Given the description of an element on the screen output the (x, y) to click on. 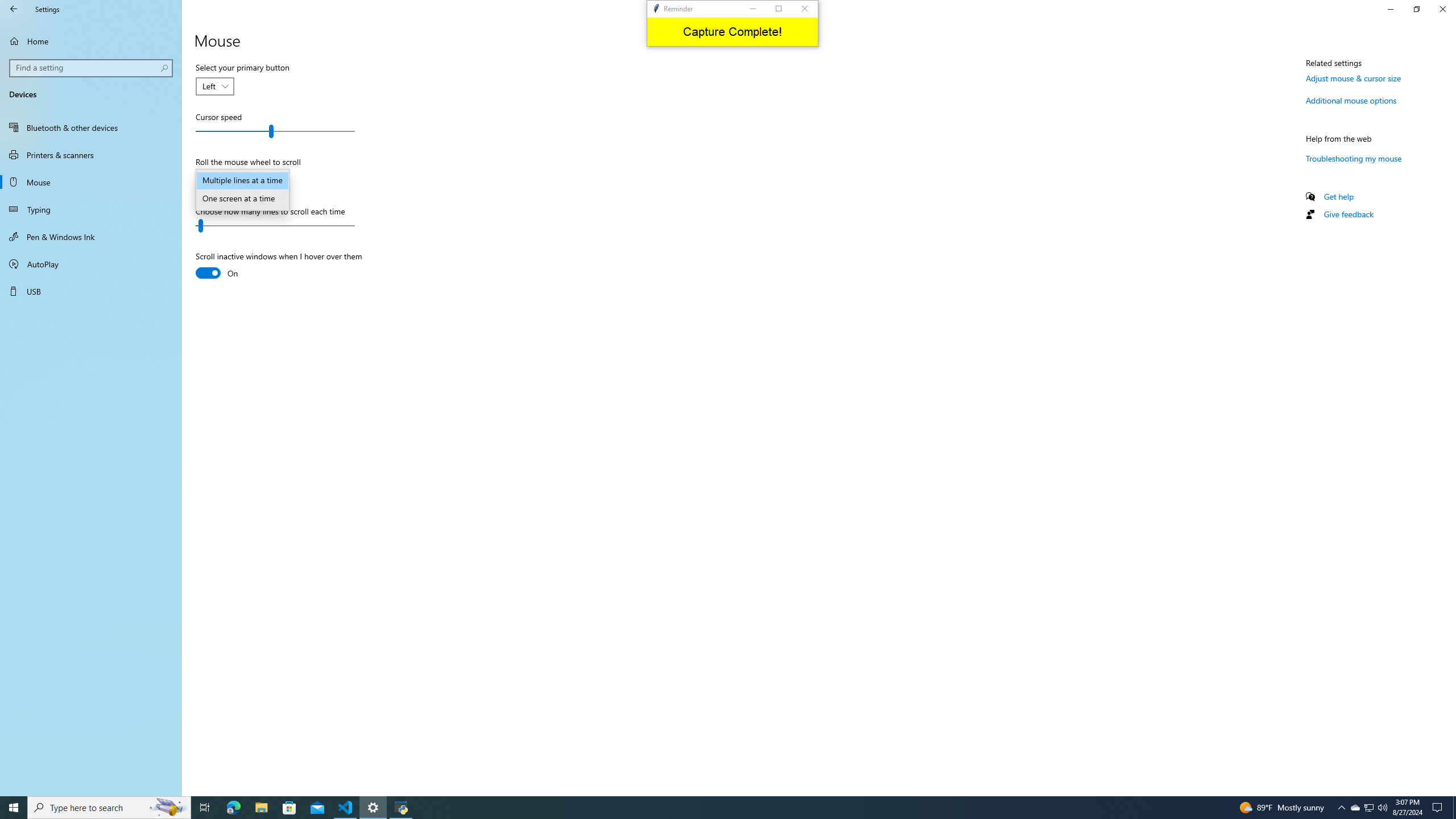
Troubleshooting my mouse (1354, 158)
Adjust mouse & cursor size (1353, 77)
Select your primary button (214, 85)
One screen at a time (242, 199)
Scroll inactive windows when I hover over them (278, 265)
Mouse (91, 181)
